Given the description of an element on the screen output the (x, y) to click on. 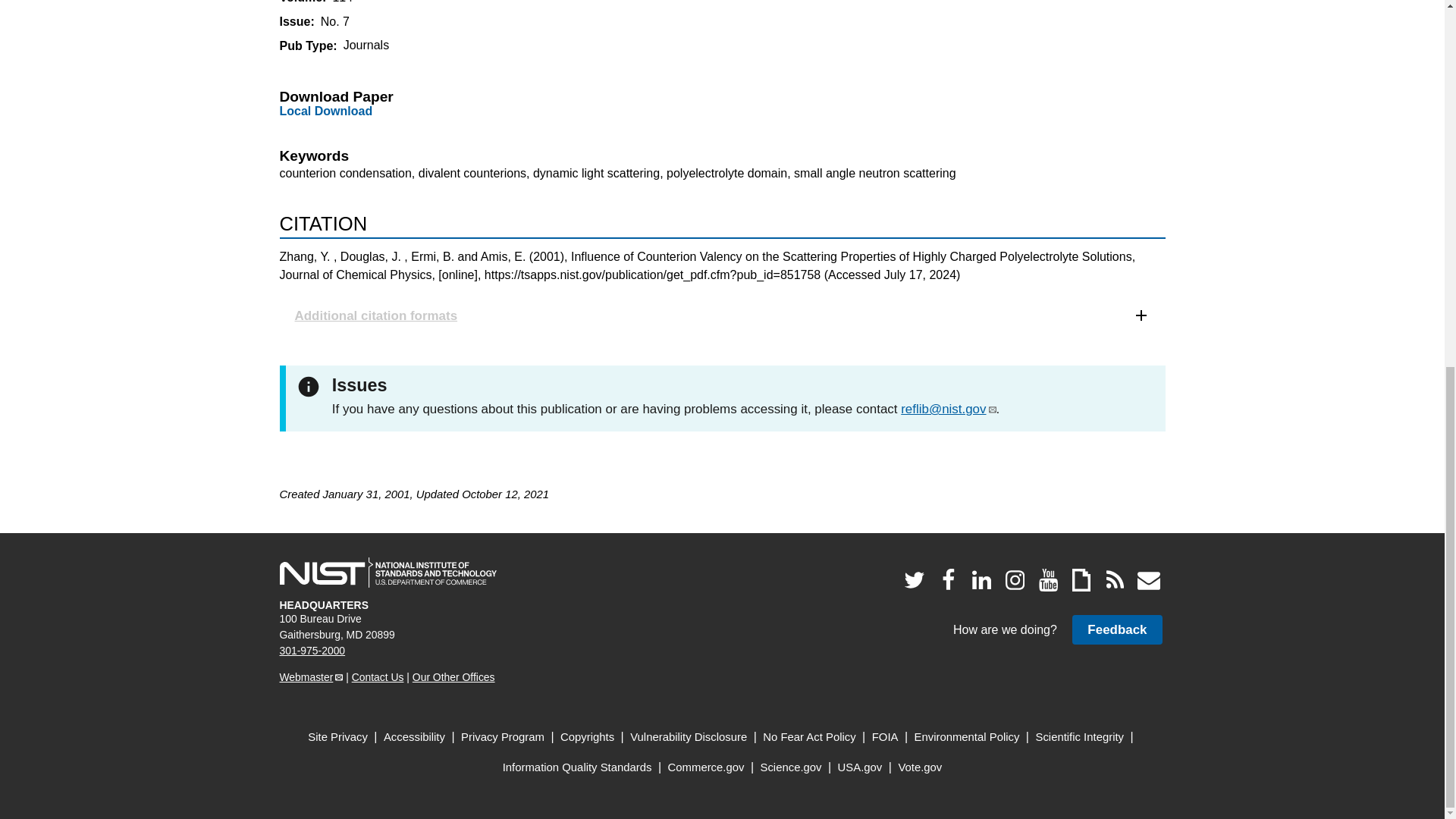
Our Other Offices (453, 676)
Environmental Policy (967, 736)
Site Privacy (337, 736)
Scientific Integrity (1079, 736)
Feedback (1116, 629)
Privacy Program (502, 736)
Copyrights (587, 736)
Contact Us (378, 676)
Webmaster (310, 676)
Provide feedback (1116, 629)
Vulnerability Disclosure (688, 736)
301-975-2000 (312, 650)
FOIA (885, 736)
Local Download (325, 110)
Additional citation formats (721, 315)
